Given the description of an element on the screen output the (x, y) to click on. 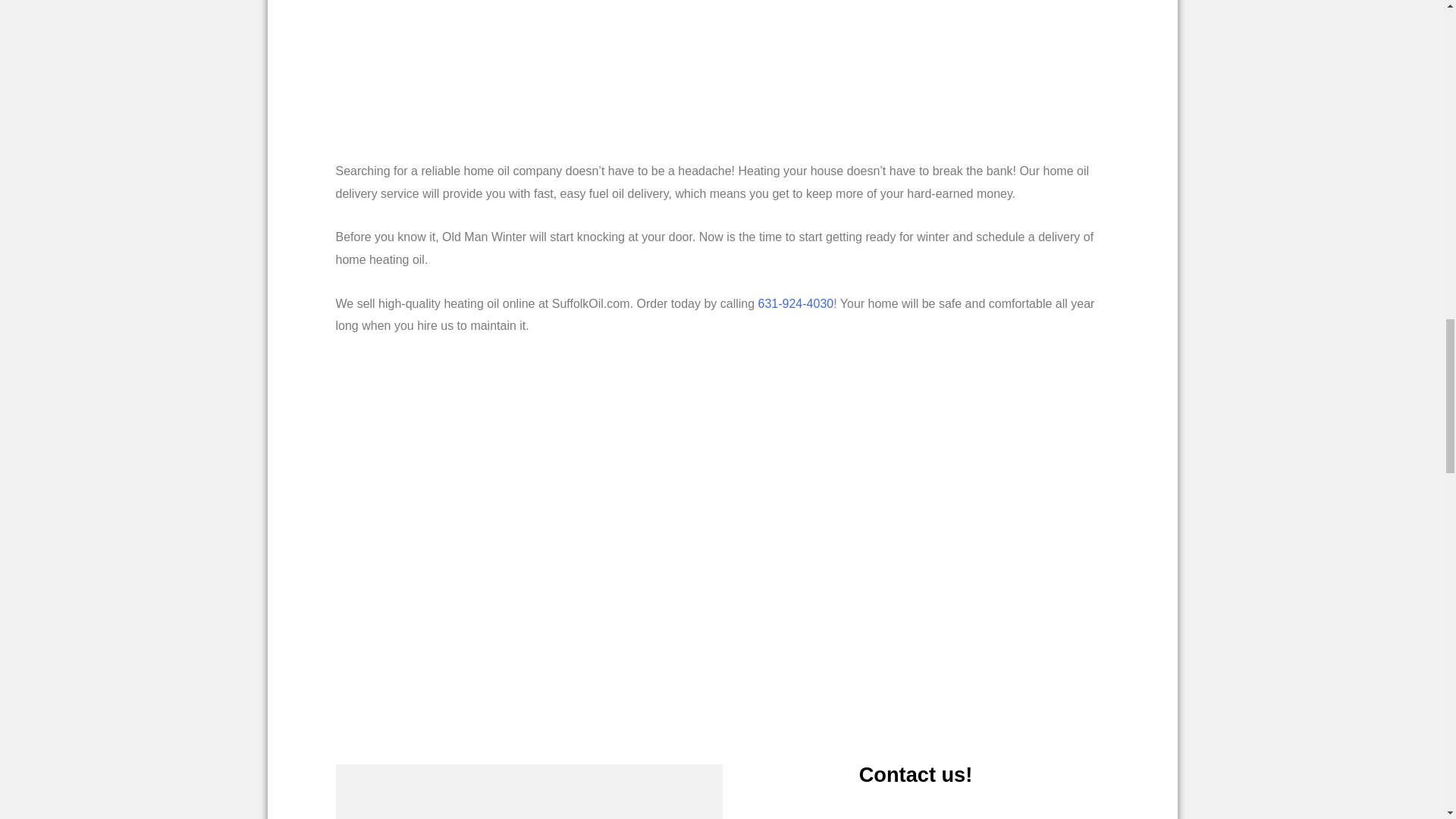
Heating,Oil,Home,Delivery (702, 76)
631-924-4030 (796, 303)
